Given the description of an element on the screen output the (x, y) to click on. 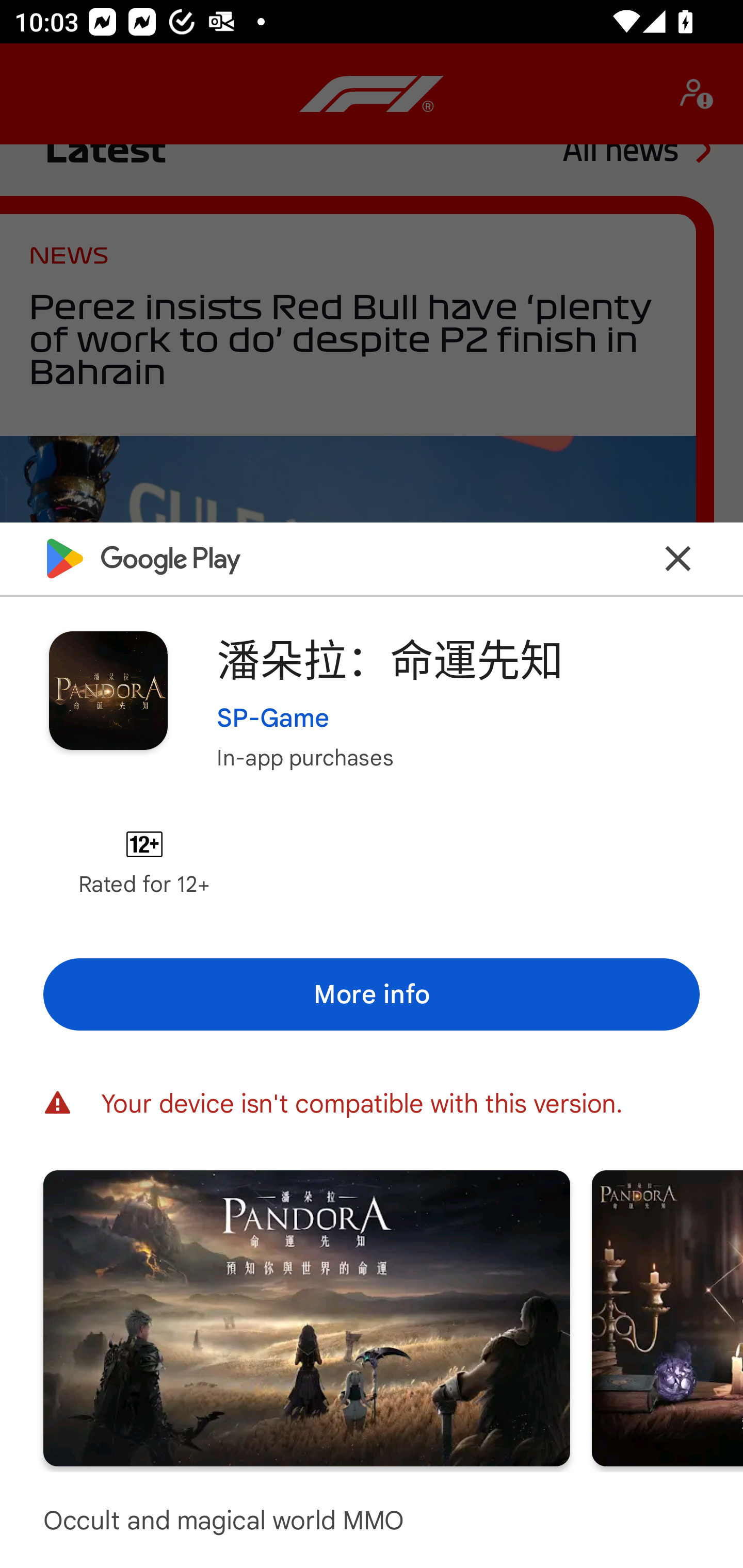
Close (677, 558)
Image of app or game icon for 潘朵拉：命運先知 (108, 690)
SP-Game (272, 716)
More info (371, 994)
Screenshot "1" of "6" (306, 1317)
